Given the description of an element on the screen output the (x, y) to click on. 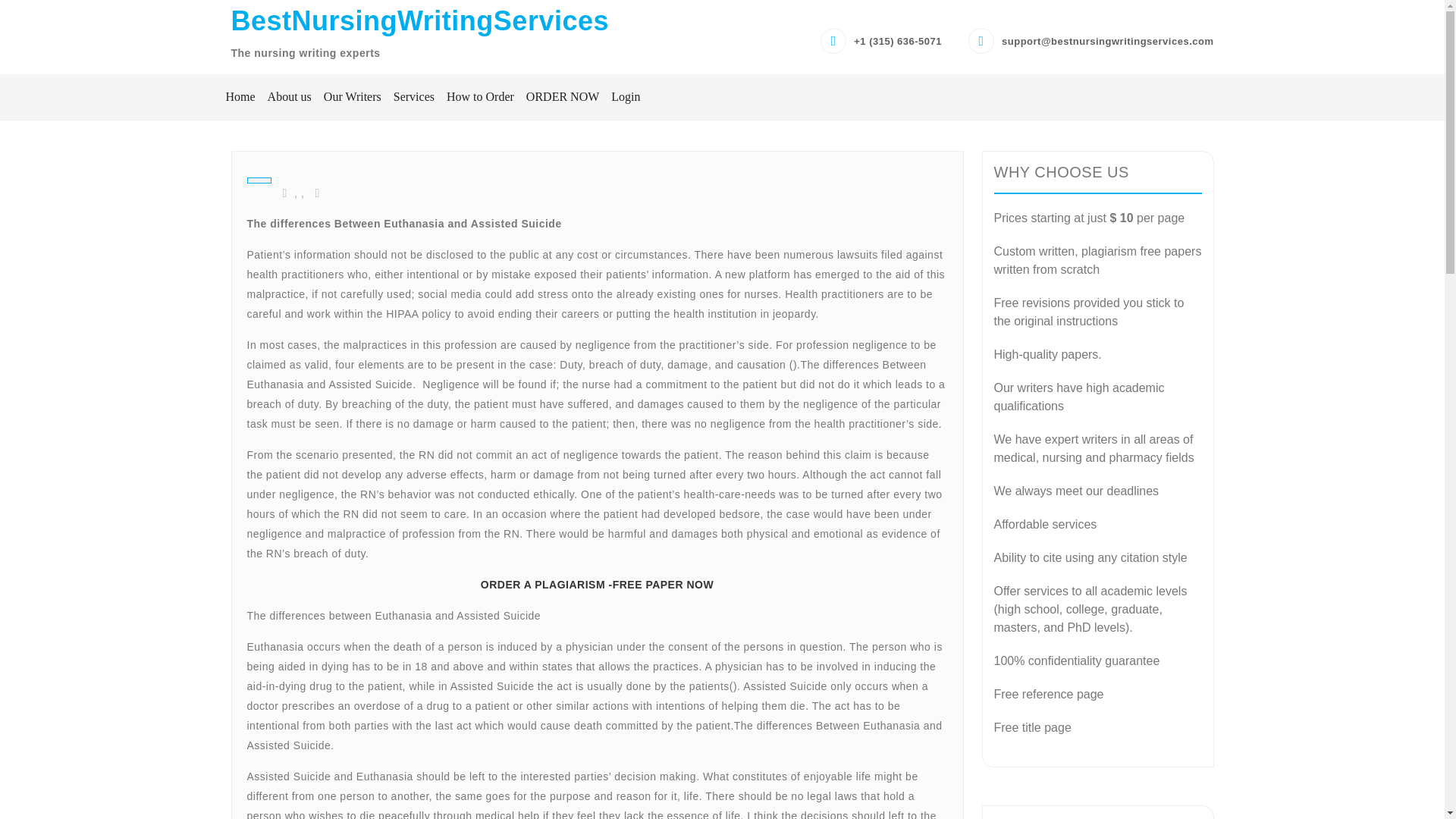
ORDER A PLAGIARISM -FREE PAPER NOW (596, 761)
ORDER NOW (562, 96)
, , (294, 496)
Our Writers (352, 96)
Login (622, 96)
How to Order (480, 96)
Home (240, 96)
BestNursingWritingServices (419, 20)
Services (414, 96)
About us (289, 96)
